Given the description of an element on the screen output the (x, y) to click on. 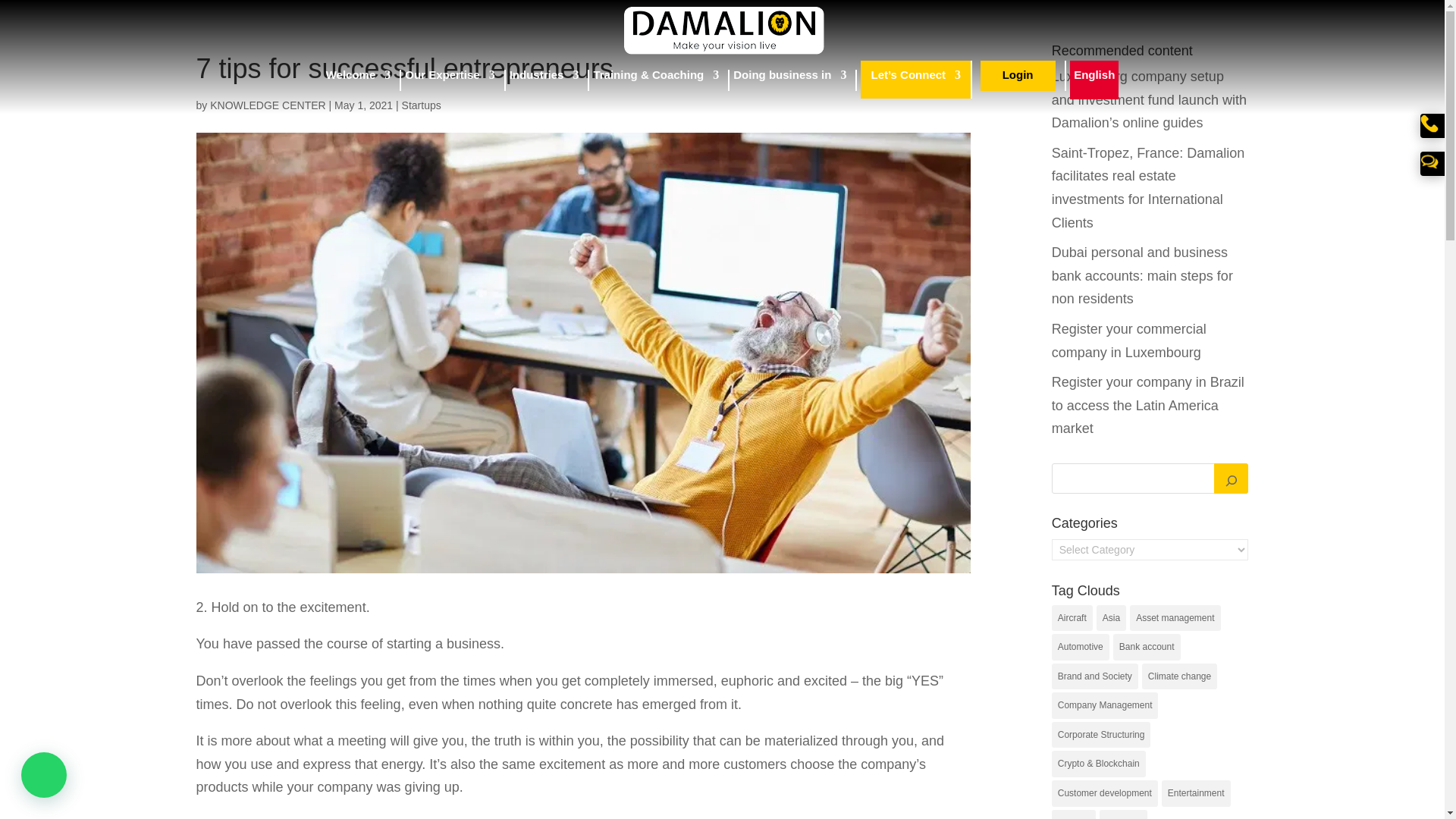
English (1094, 79)
Posts by KNOWLEDGE CENTER (266, 105)
Talk to your DAMALION EXPERT NOW (1429, 123)
SEND US AN EMAIL (1429, 161)
Our Expertise (449, 79)
Welcome (358, 79)
